Given the description of an element on the screen output the (x, y) to click on. 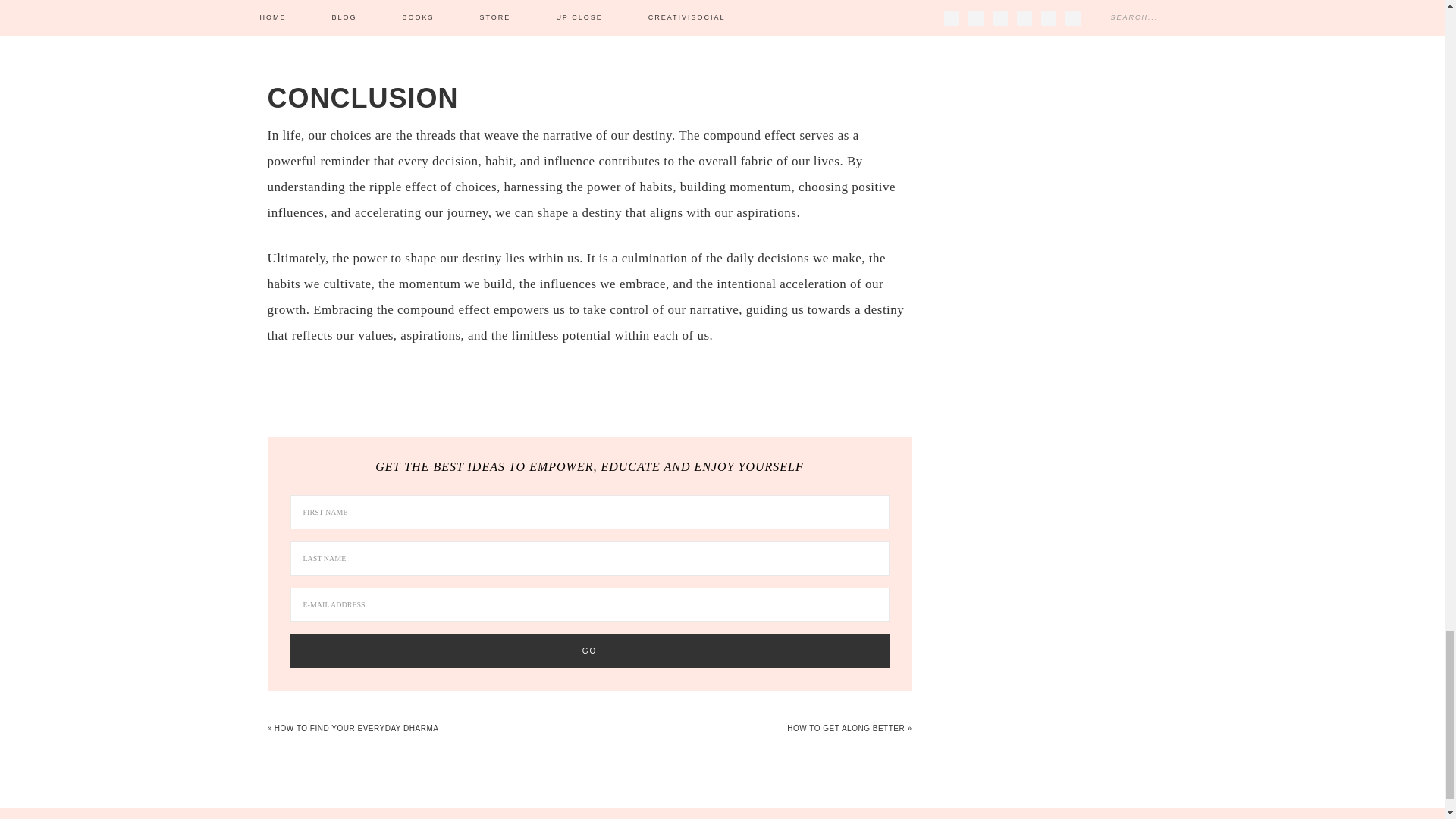
Go (588, 650)
Go (588, 650)
